Given the description of an element on the screen output the (x, y) to click on. 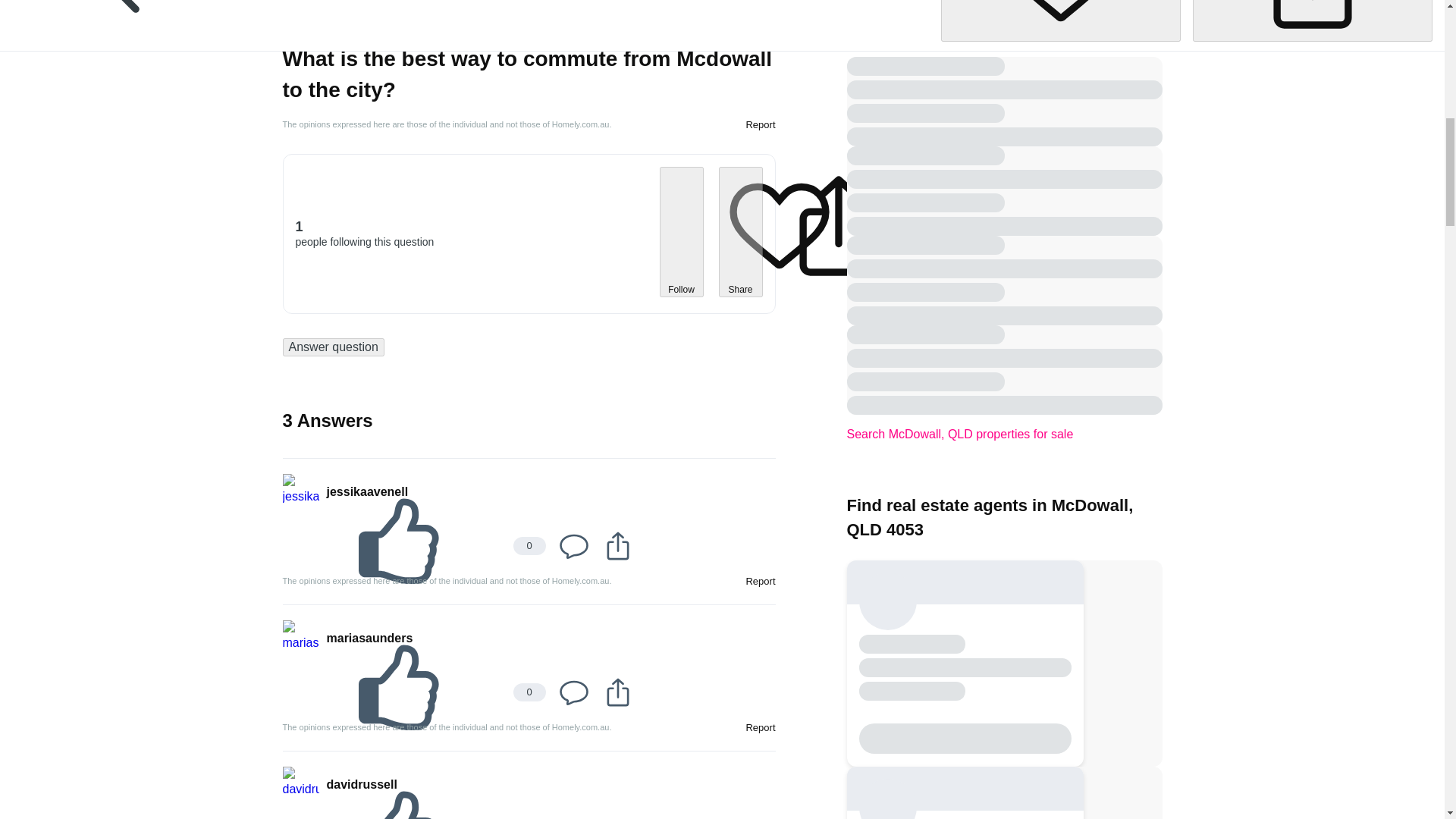
Follow this question (1060, 20)
Share this question (1312, 20)
Answer question (333, 347)
mariasaunders (369, 638)
Back (118, 20)
jessikaavenell (366, 491)
nimusam (352, 23)
